Given the description of an element on the screen output the (x, y) to click on. 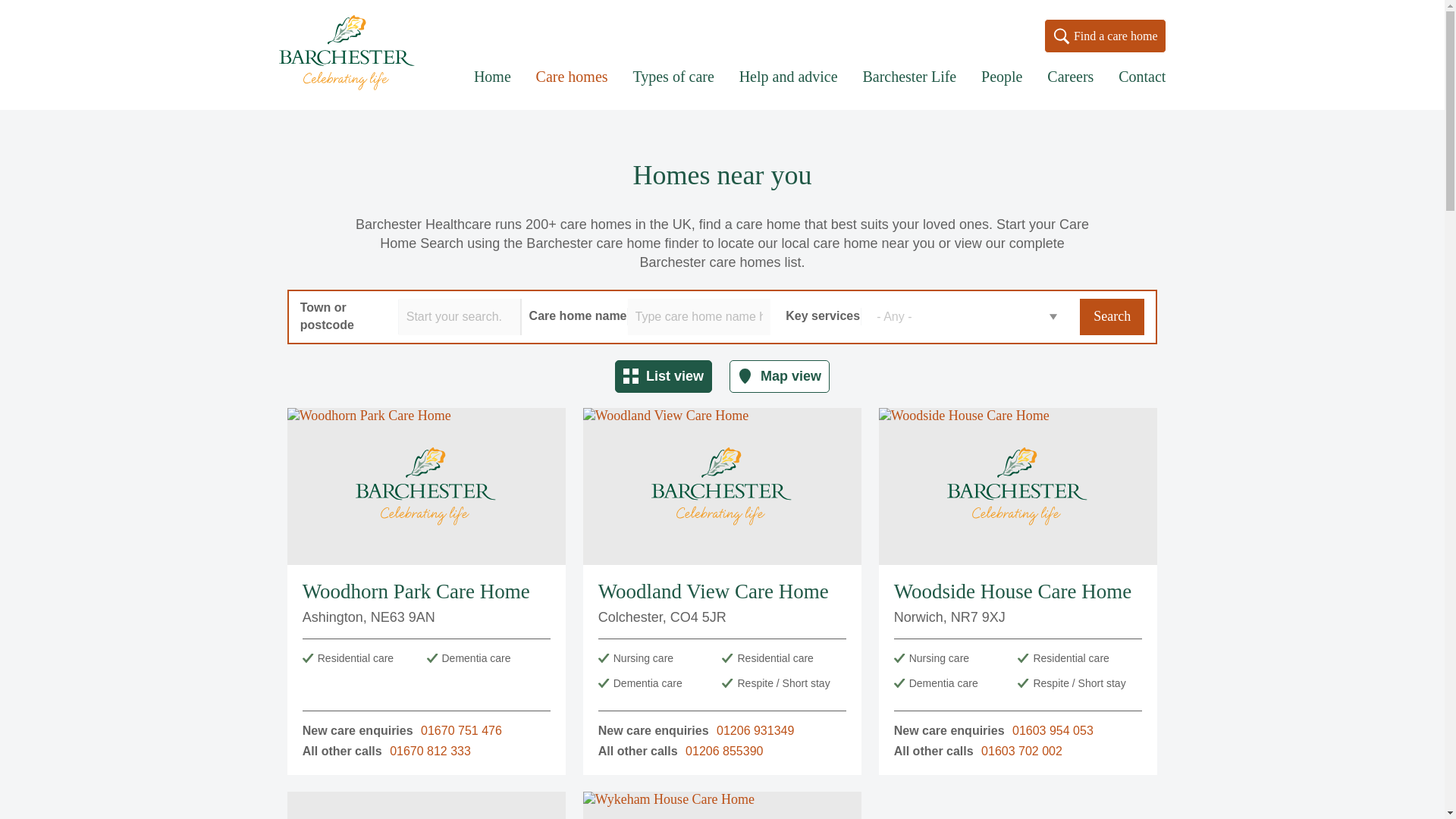
Care homes (571, 87)
People (1001, 87)
Types of care (672, 87)
Barchester Life (908, 87)
Contact (1142, 87)
Home (351, 54)
Careers (1069, 87)
Help and advice (788, 87)
Find a care home (1104, 35)
Search (1112, 316)
